Given the description of an element on the screen output the (x, y) to click on. 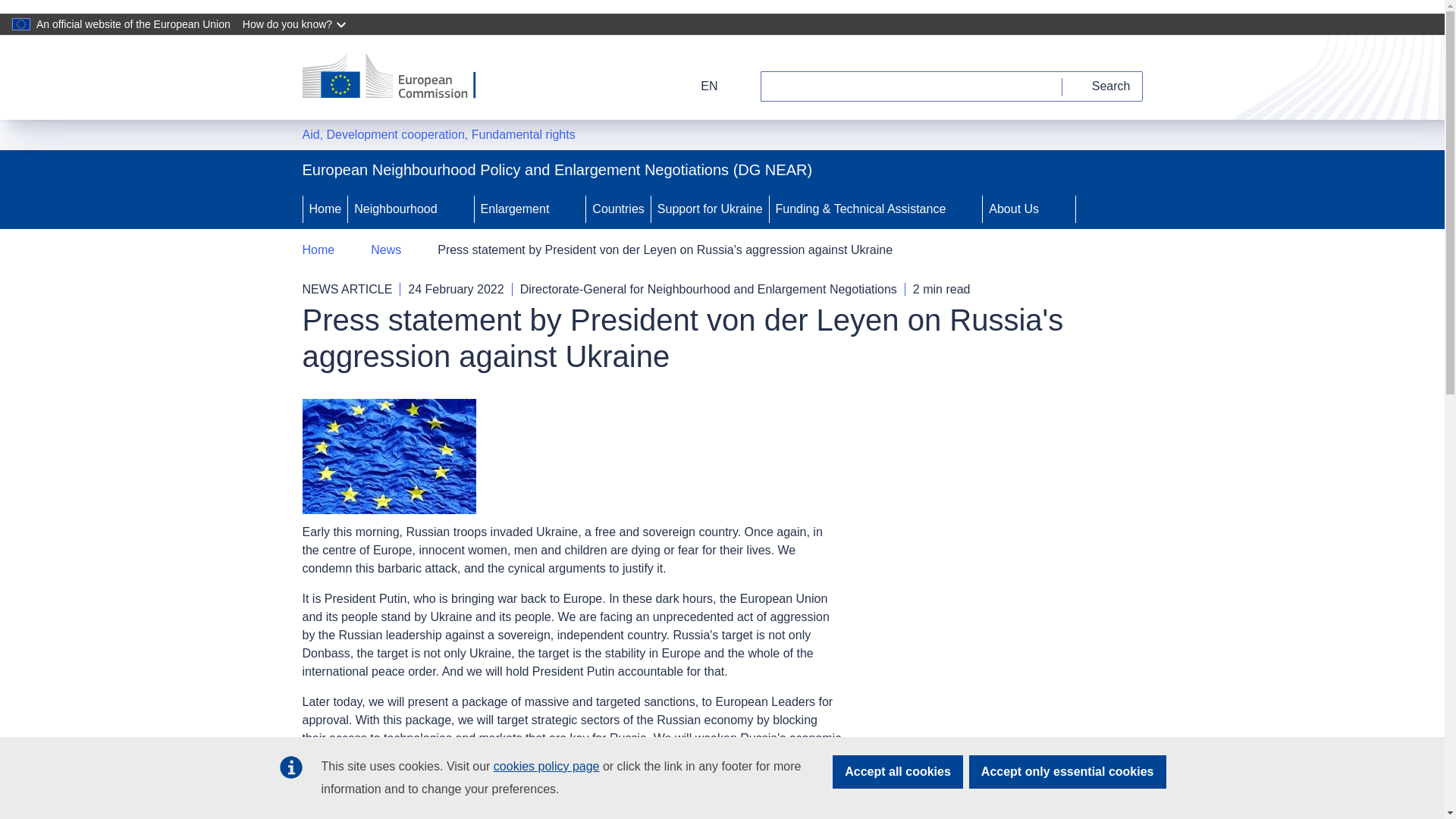
European Commission (399, 77)
Accept only essential cookies (1067, 771)
Accept all cookies (897, 771)
Search (1102, 86)
How do you know? (295, 24)
Home (324, 209)
Aid, Development cooperation, Fundamental rights (438, 134)
Enlargement (513, 209)
EN (699, 86)
Neighbourhood (393, 209)
cookies policy page (546, 766)
